Given the description of an element on the screen output the (x, y) to click on. 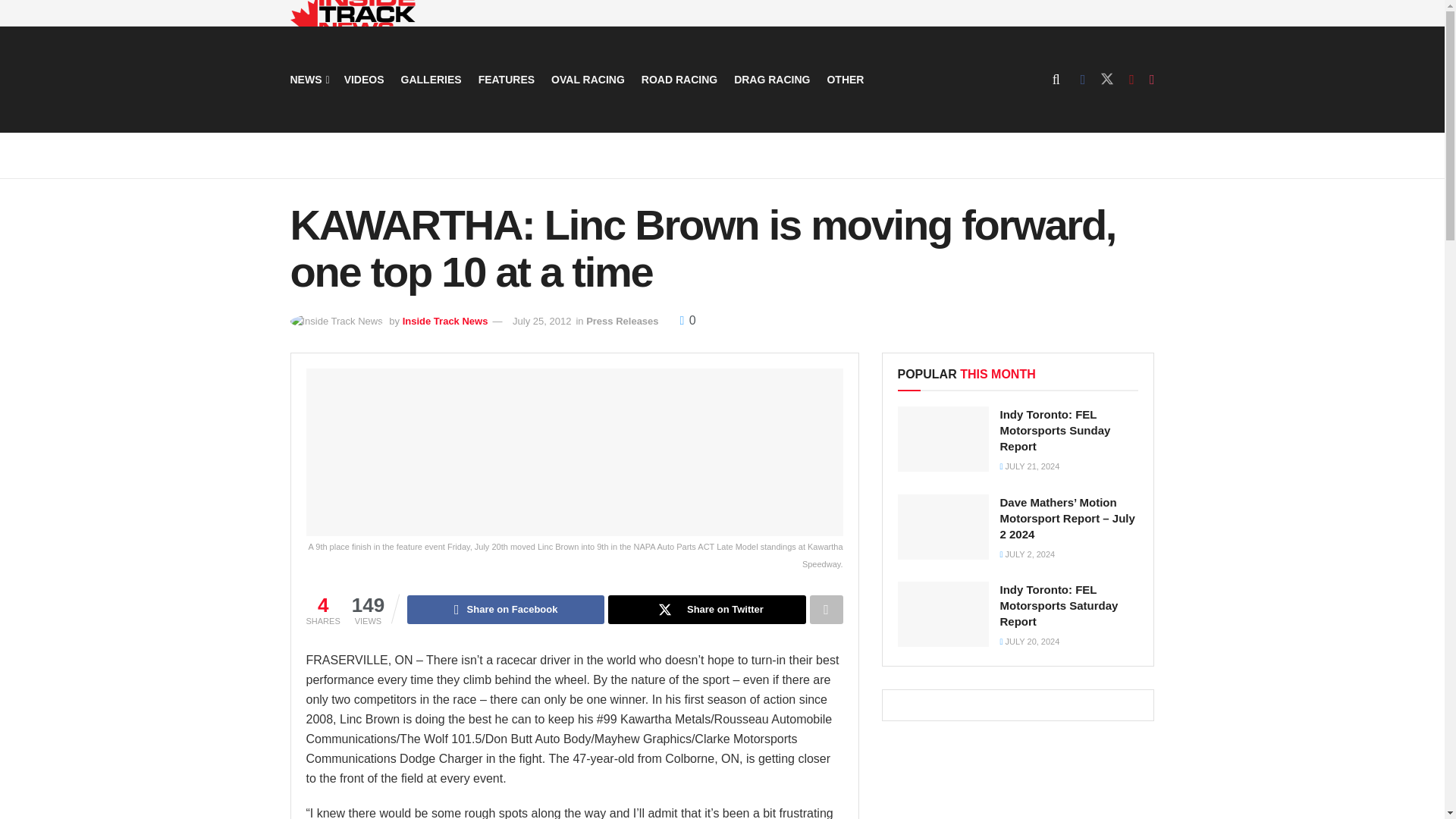
GALLERIES (431, 79)
ROAD RACING (679, 79)
DRAG RACING (771, 79)
OVAL RACING (587, 79)
VIDEOS (363, 79)
FEATURES (506, 79)
OTHER (845, 79)
NEWS (307, 79)
